Given the description of an element on the screen output the (x, y) to click on. 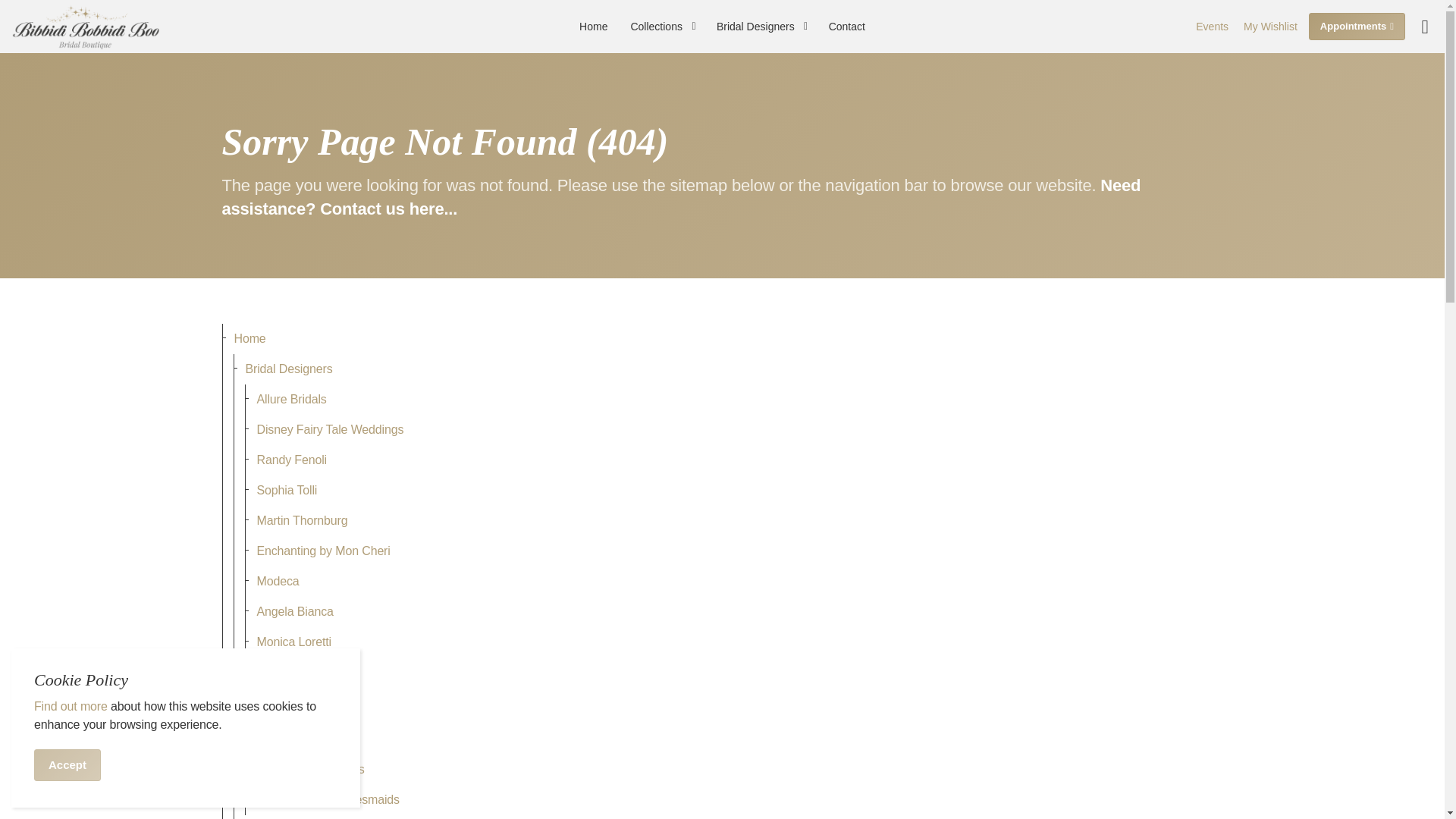
Events (1212, 26)
Bridal Designers (727, 368)
Sophia Tolli (733, 490)
Need assistance? Contact us here... (680, 197)
Allure Bridals (733, 399)
Collections (661, 26)
Randy Fenoli (733, 460)
Enchanting by Mon Cheri (733, 551)
Contact (846, 26)
Bridal Designers (760, 26)
Contact (680, 197)
My Wishlist (1270, 26)
Disney Fairy Tale Weddings (733, 429)
Appointments (1356, 26)
Martin Thornburg (733, 521)
